Given the description of an element on the screen output the (x, y) to click on. 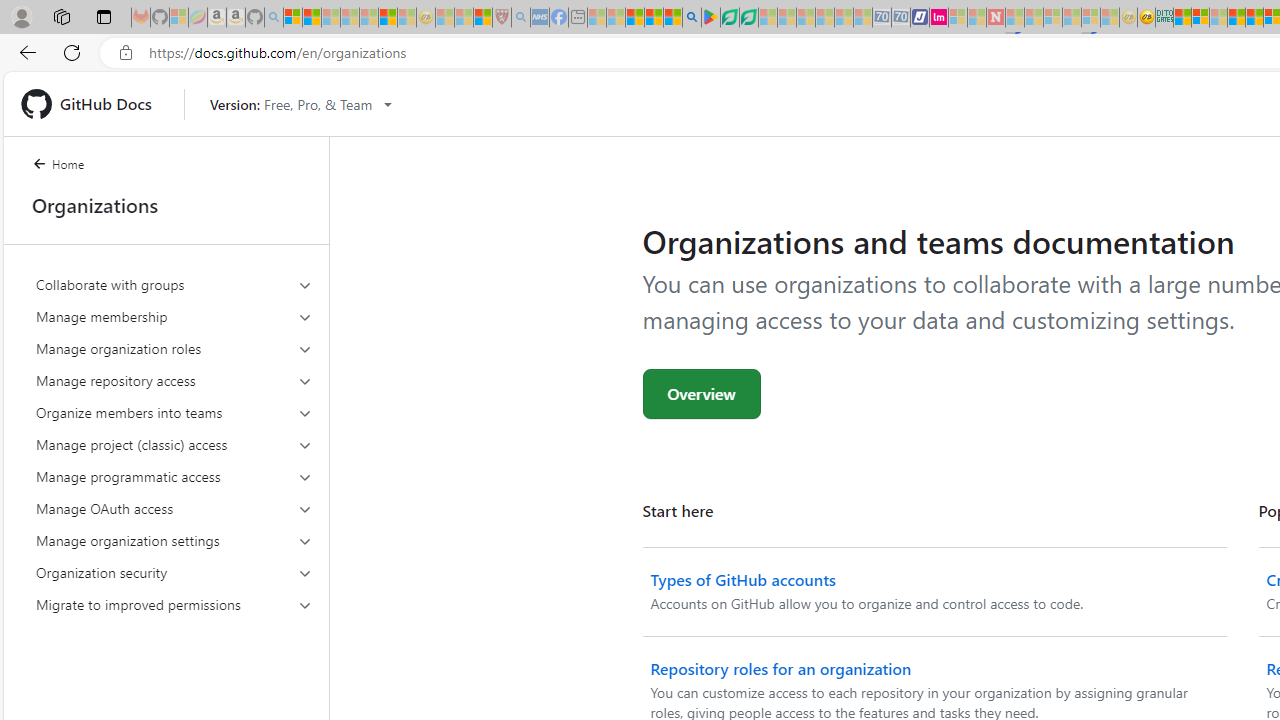
Manage membership (174, 316)
Organization security (174, 572)
Manage organization roles (174, 348)
Collaborate with groups (174, 284)
Terms of Use Agreement (729, 17)
Manage membership (174, 316)
Manage programmatic access (174, 476)
